Given the description of an element on the screen output the (x, y) to click on. 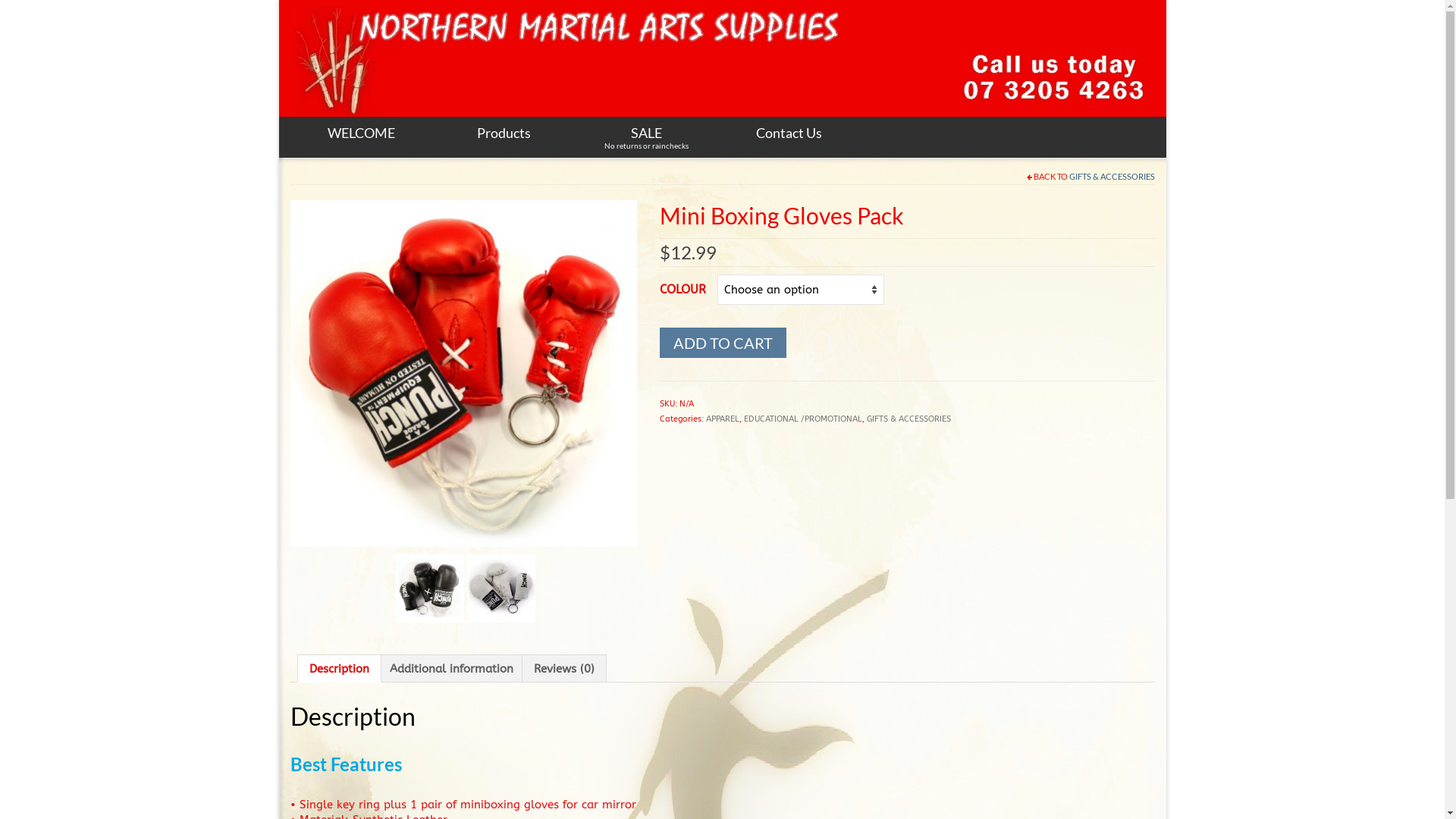
ADD TO CART Element type: text (722, 342)
white-mini-glovesweb Element type: hover (500, 587)
WELCOME Element type: text (360, 132)
SALE
No returns or rainchecks Element type: text (646, 136)
mini-glove-redweb1 Element type: hover (463, 372)
mini-gloves-blackweb1 Element type: hover (429, 587)
EDUCATIONAL /PROMOTIONAL Element type: text (802, 418)
APPAREL Element type: text (722, 418)
Contact Us Element type: text (789, 132)
GIFTS & ACCESSORIES Element type: text (1111, 176)
Reviews (0) Element type: text (563, 668)
Description Element type: text (339, 668)
Products Element type: text (504, 132)
Additional information Element type: text (451, 668)
GIFTS & ACCESSORIES Element type: text (908, 418)
